Given the description of an element on the screen output the (x, y) to click on. 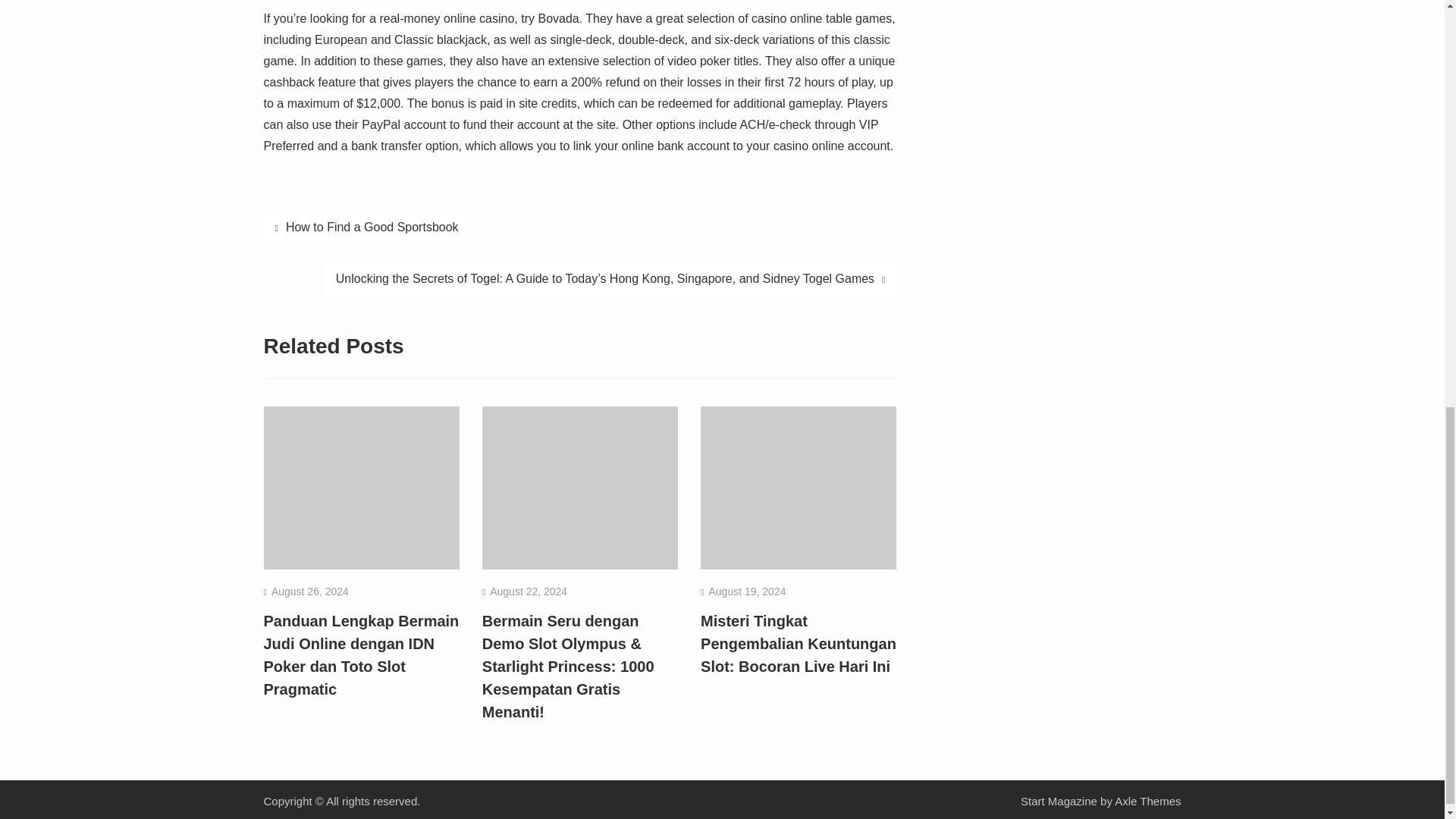
Axle Themes (1147, 800)
How to Find a Good Sportsbook (366, 227)
